Given the description of an element on the screen output the (x, y) to click on. 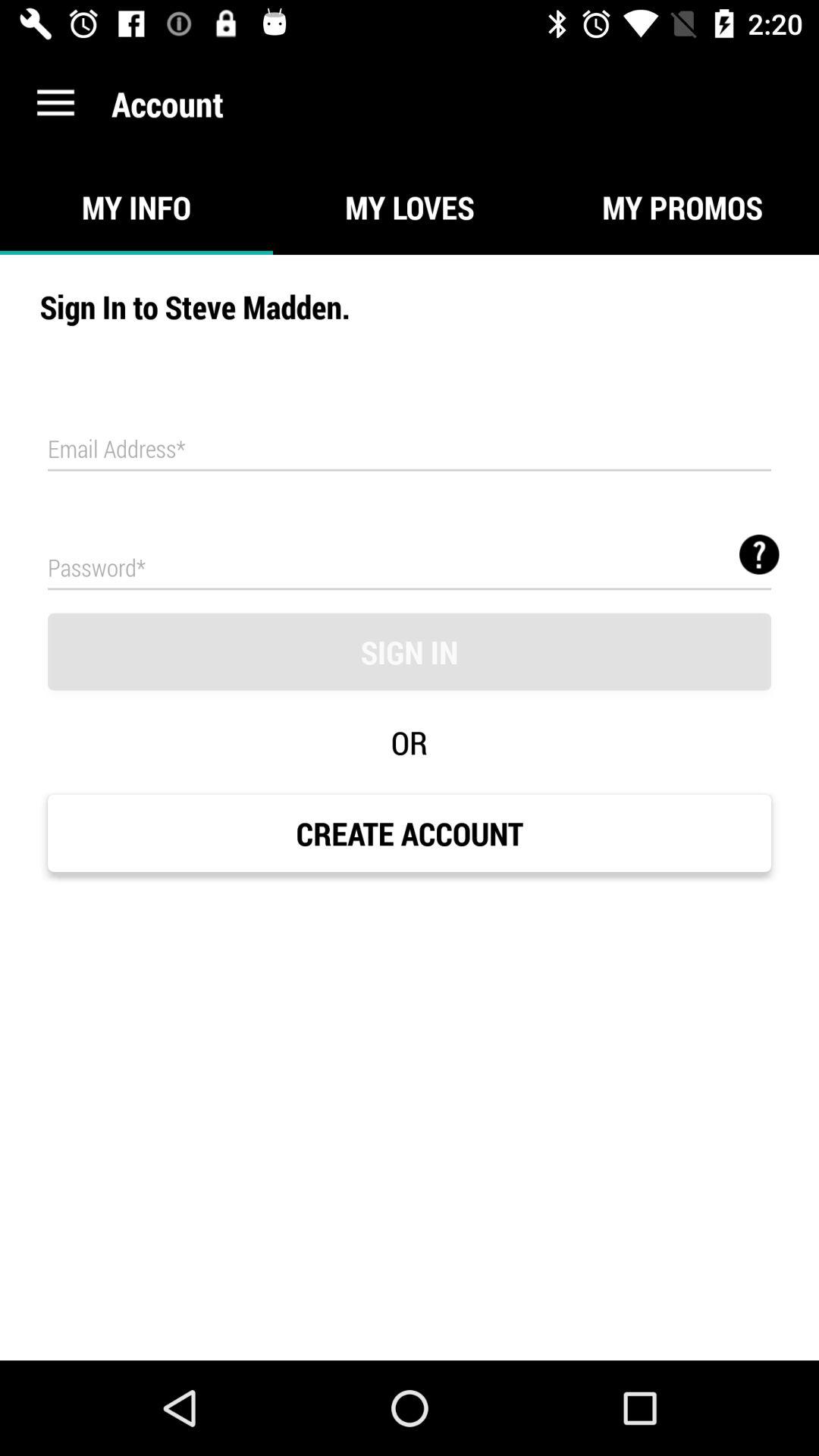
tap icon below sign in to icon (409, 449)
